Given the description of an element on the screen output the (x, y) to click on. 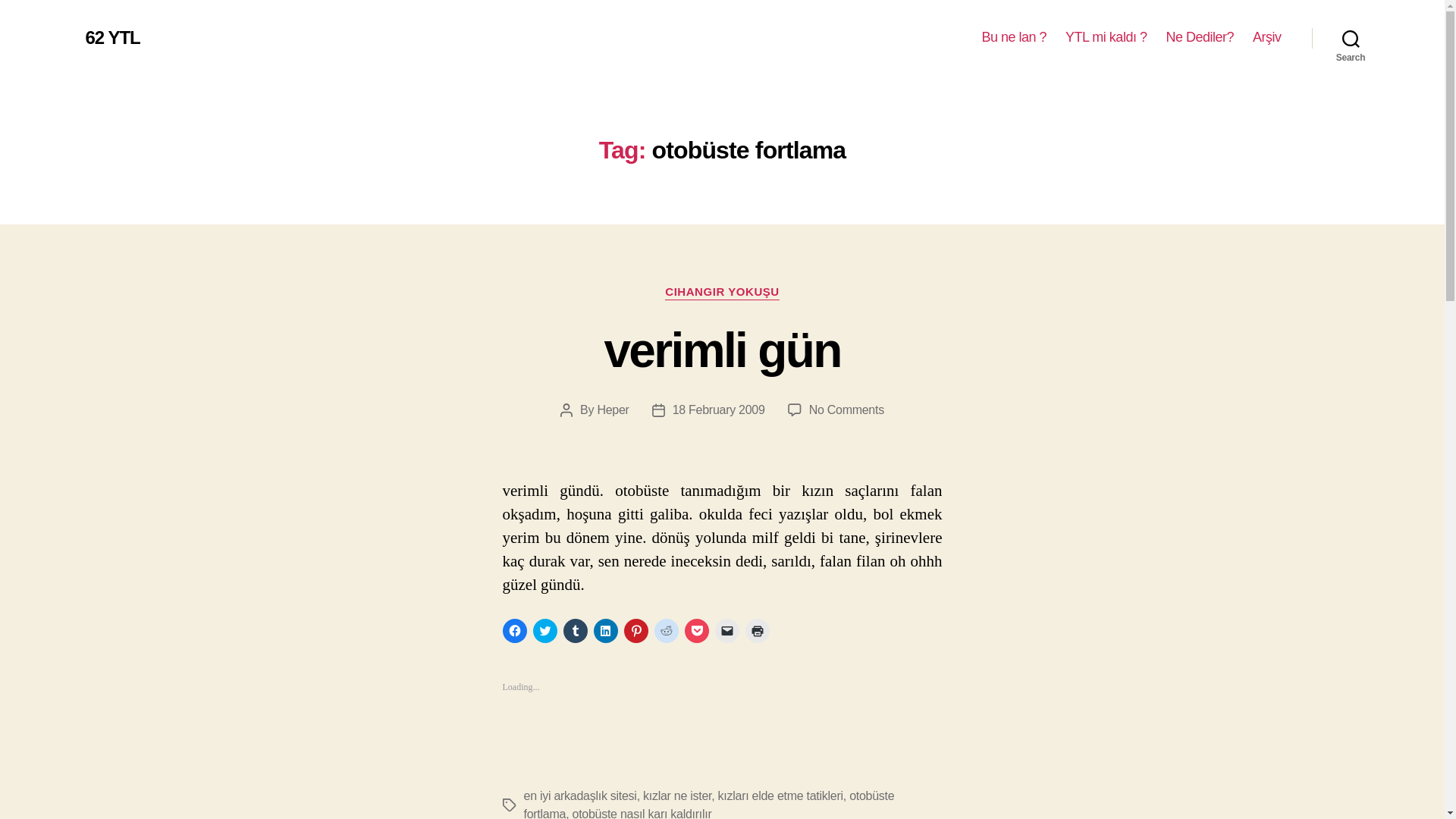
Search (1350, 37)
Click to share on Pocket (695, 630)
Click to share on Reddit (665, 630)
18 February 2009 (718, 409)
Click to share on LinkedIn (604, 630)
Click to share on Pinterest (635, 630)
Click to share on Facebook (513, 630)
Heper (612, 409)
Click to share on Tumblr (574, 630)
62 YTL (111, 37)
Ne Dediler? (1199, 37)
Click to email a link to a friend (726, 630)
Click to share on Twitter (544, 630)
Bu ne lan ? (1013, 37)
Click to print (756, 630)
